Given the description of an element on the screen output the (x, y) to click on. 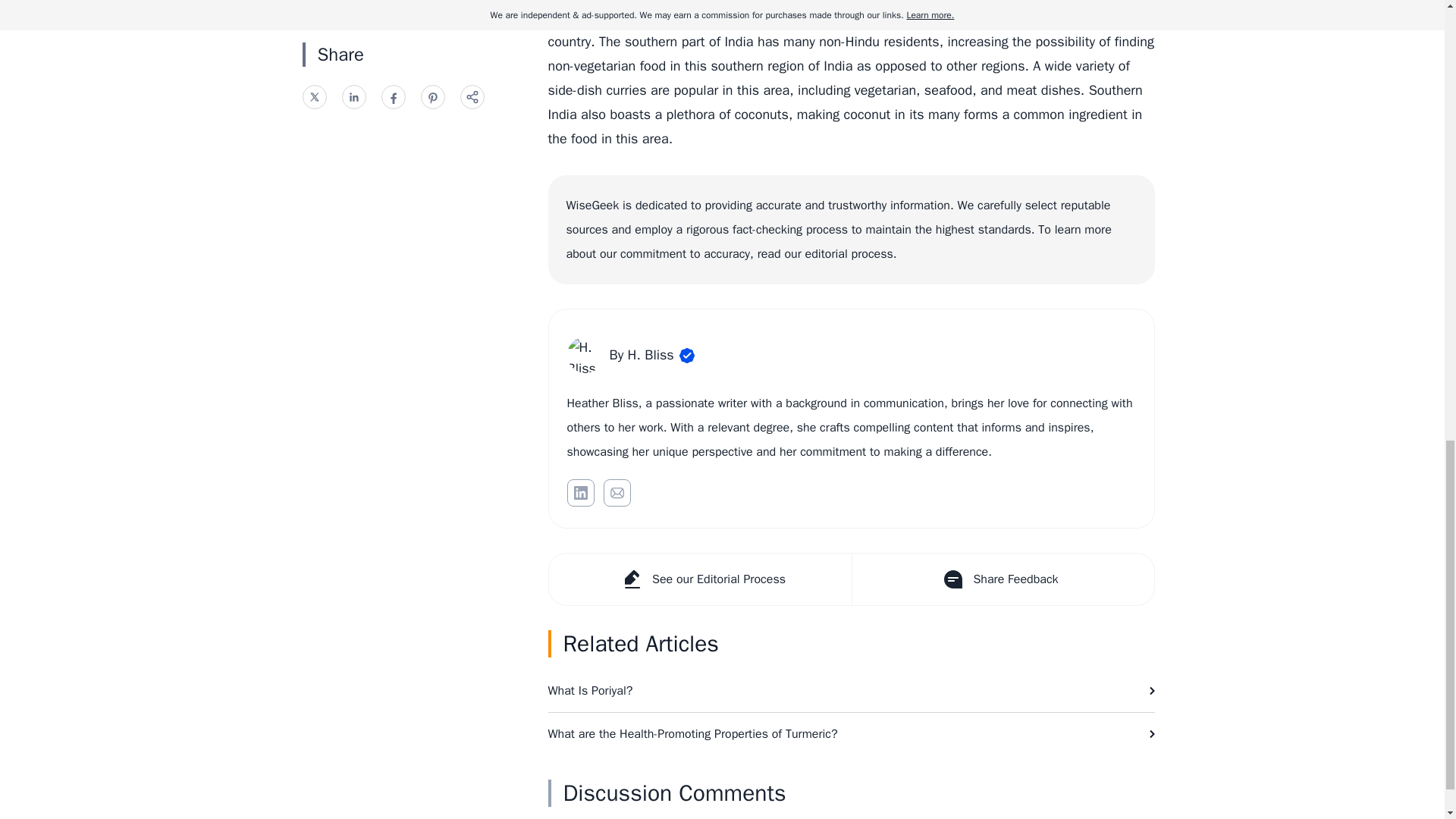
What Is Poriyal? (850, 690)
See our Editorial Process (699, 579)
Share Feedback (1001, 579)
What are the Health-Promoting Properties of Turmeric? (850, 733)
